Given the description of an element on the screen output the (x, y) to click on. 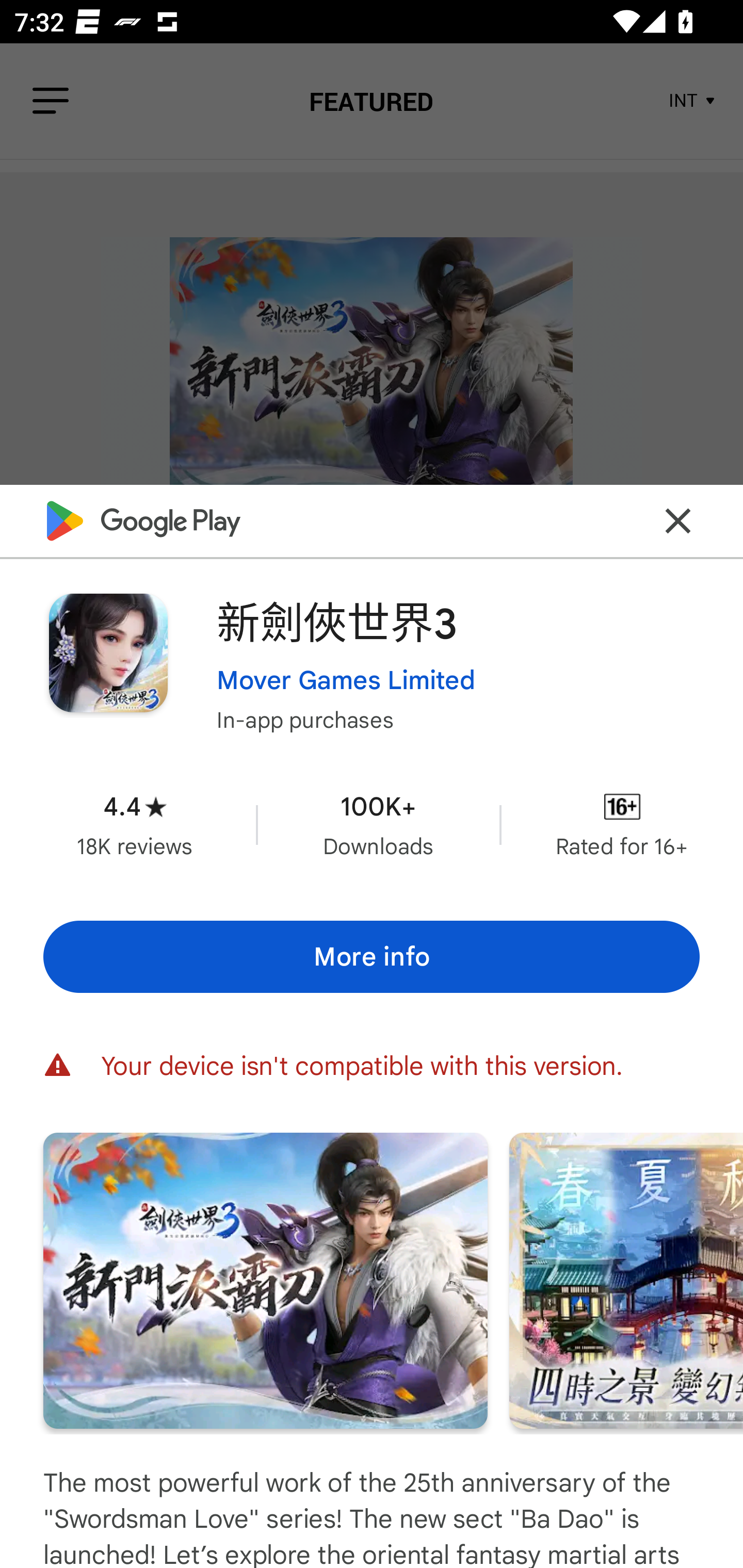
Close (677, 520)
Image of app or game icon for 新劍俠世界3 (108, 653)
Mover Games Limited (345, 679)
More info (371, 956)
Screenshot "1" of "8" (265, 1280)
Screenshot "2" of "8" (625, 1280)
